Given the description of an element on the screen output the (x, y) to click on. 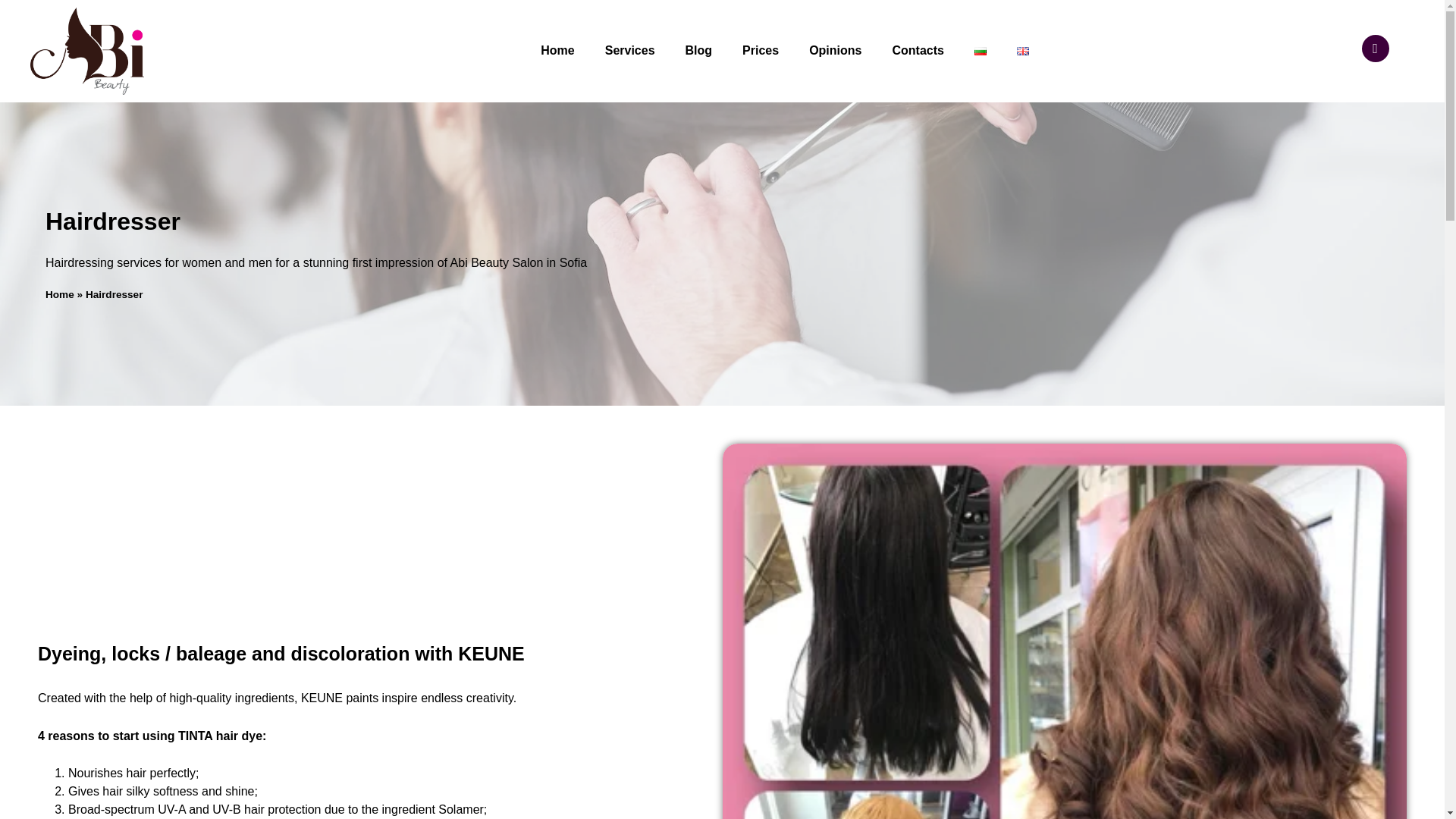
Prices (759, 50)
Contacts (917, 50)
Blog (698, 50)
Opinions (834, 50)
Services (629, 50)
Home (557, 50)
